Given the description of an element on the screen output the (x, y) to click on. 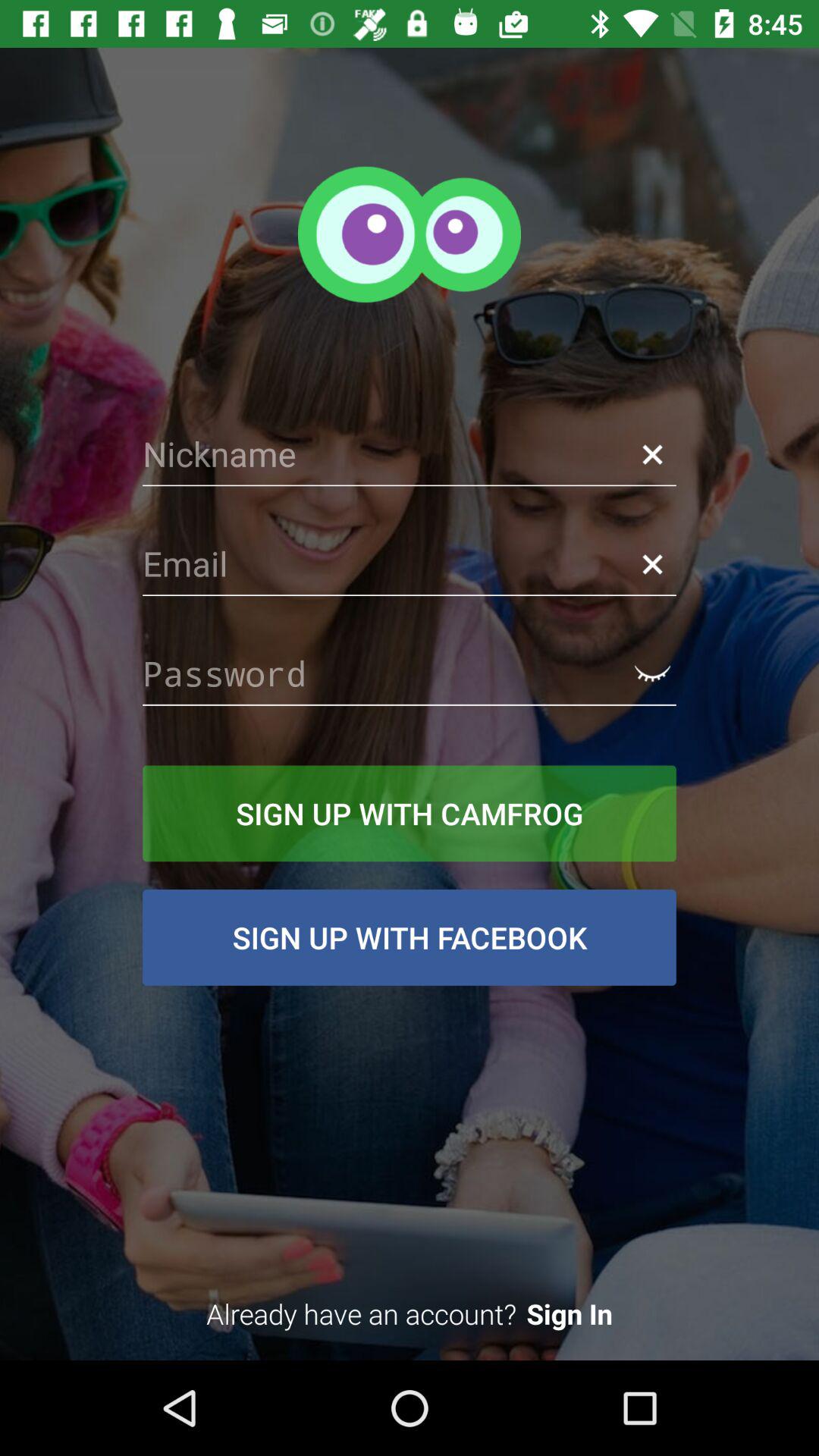
erase email (652, 564)
